Given the description of an element on the screen output the (x, y) to click on. 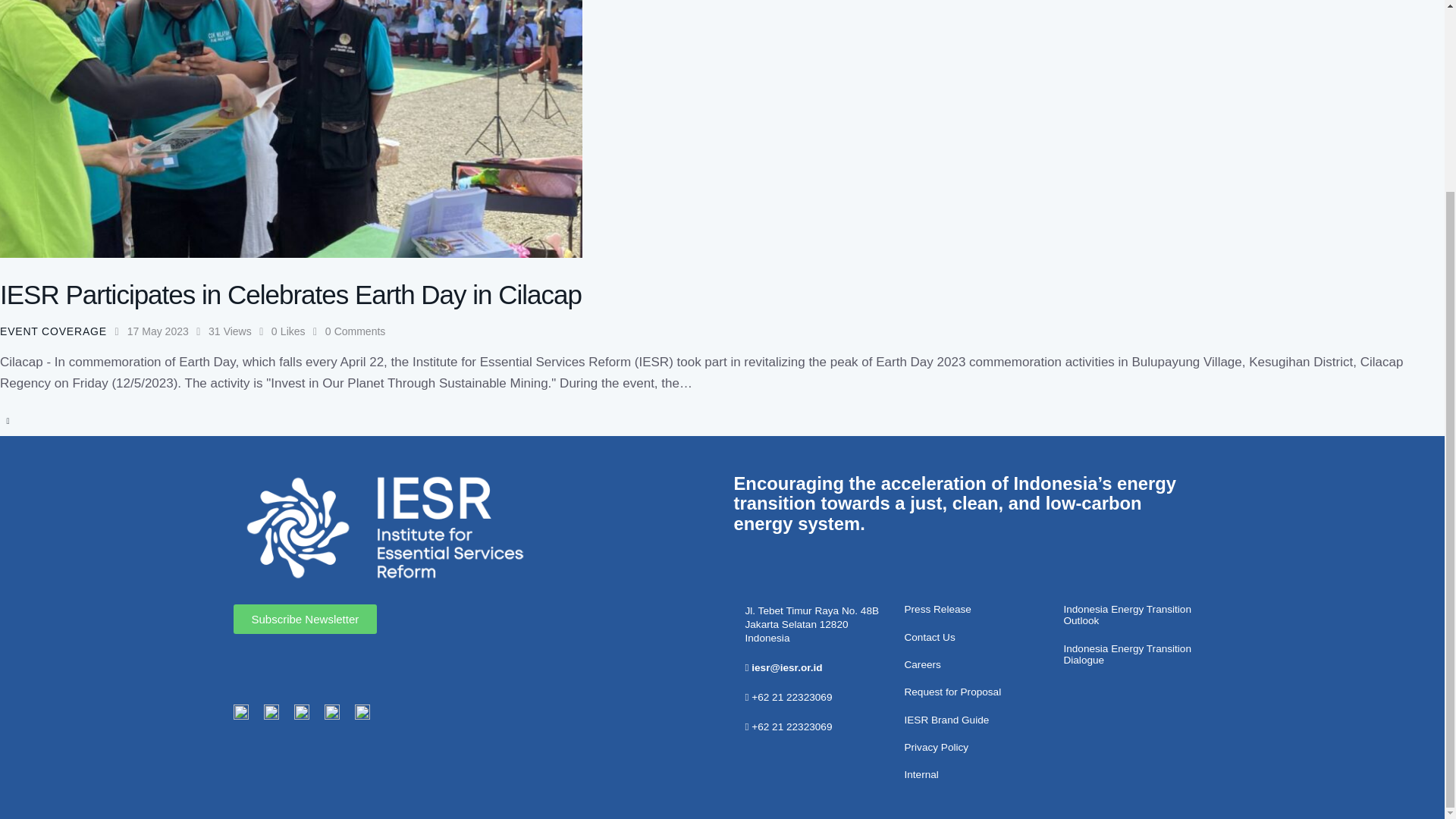
Like (297, 331)
